Given the description of an element on the screen output the (x, y) to click on. 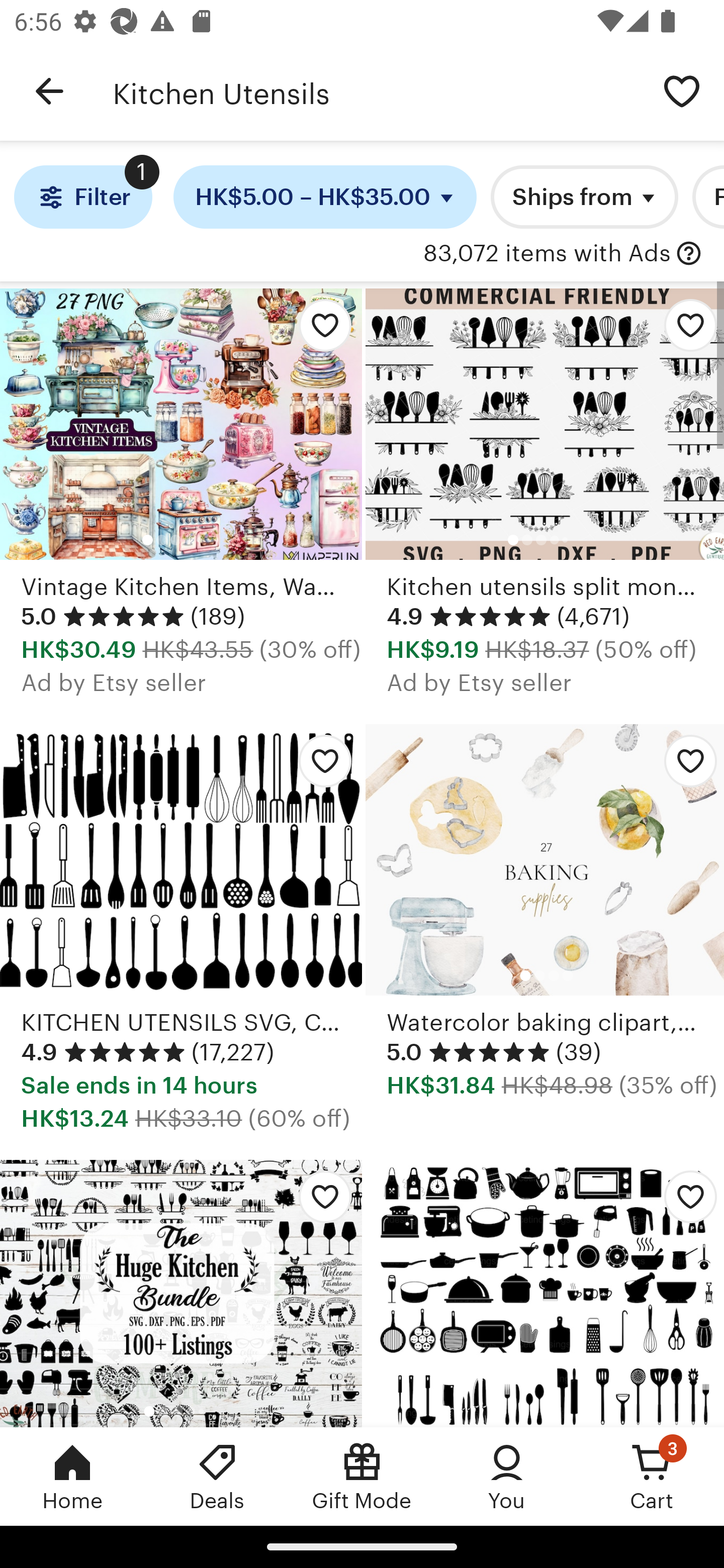
Navigate up (49, 91)
Save search (681, 90)
Kitchen Utensils (375, 91)
Filter (82, 197)
HK$5.00 – HK$35.00 (324, 197)
Ships from (584, 197)
83,072 items with Ads (547, 253)
with Ads (688, 253)
Deals (216, 1475)
Gift Mode (361, 1475)
You (506, 1475)
Cart, 3 new notifications Cart (651, 1475)
